Given the description of an element on the screen output the (x, y) to click on. 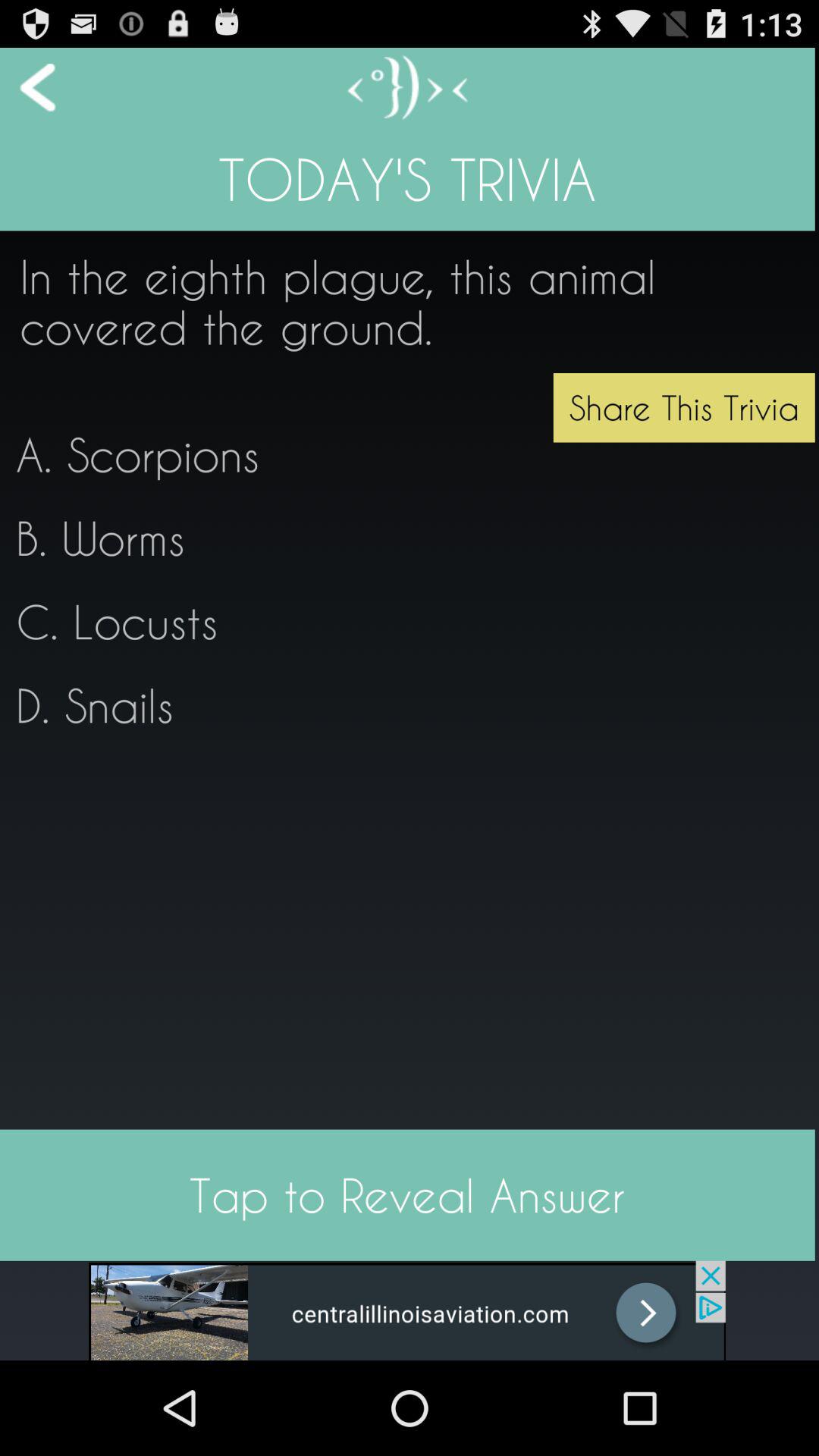
go to advertisement website (406, 1310)
